Given the description of an element on the screen output the (x, y) to click on. 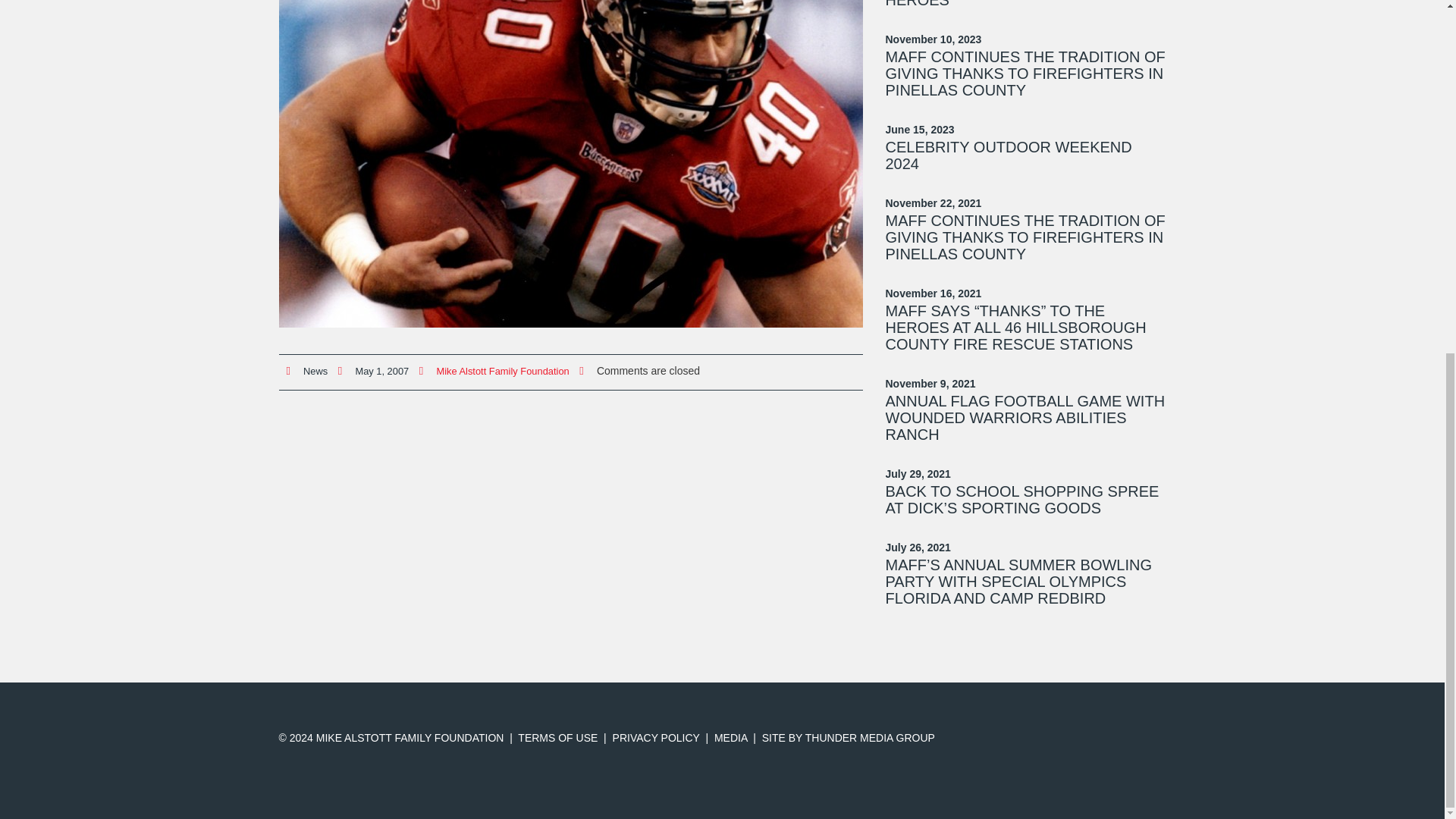
Celebrity Outdoor Weekend 2024 (1008, 154)
News (314, 370)
MEDIA (731, 737)
Posts by Mike Alstott Family Foundation (502, 370)
SITE BY THUNDER MEDIA GROUP (847, 737)
